Given the description of an element on the screen output the (x, y) to click on. 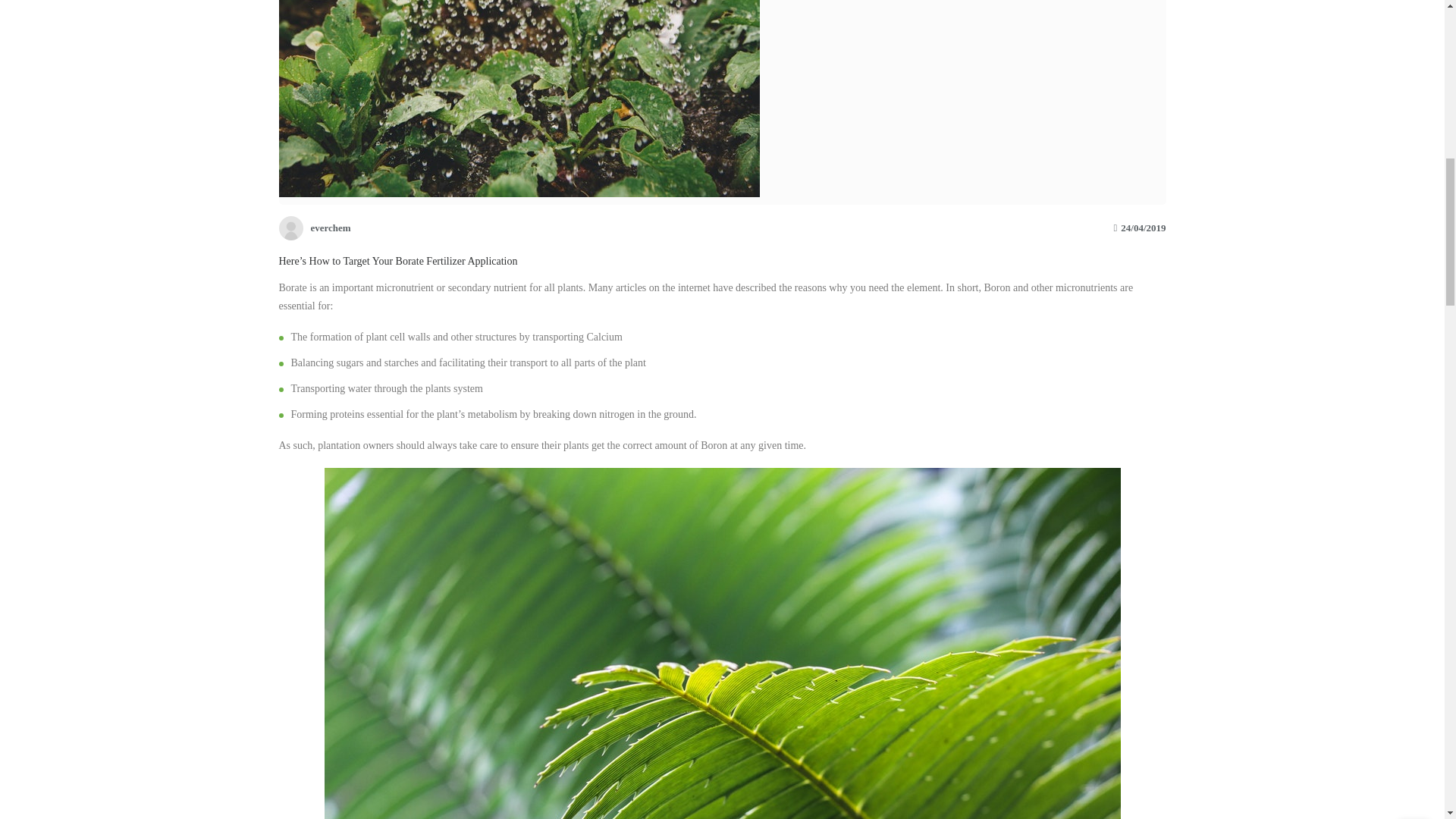
everchem (314, 226)
